Given the description of an element on the screen output the (x, y) to click on. 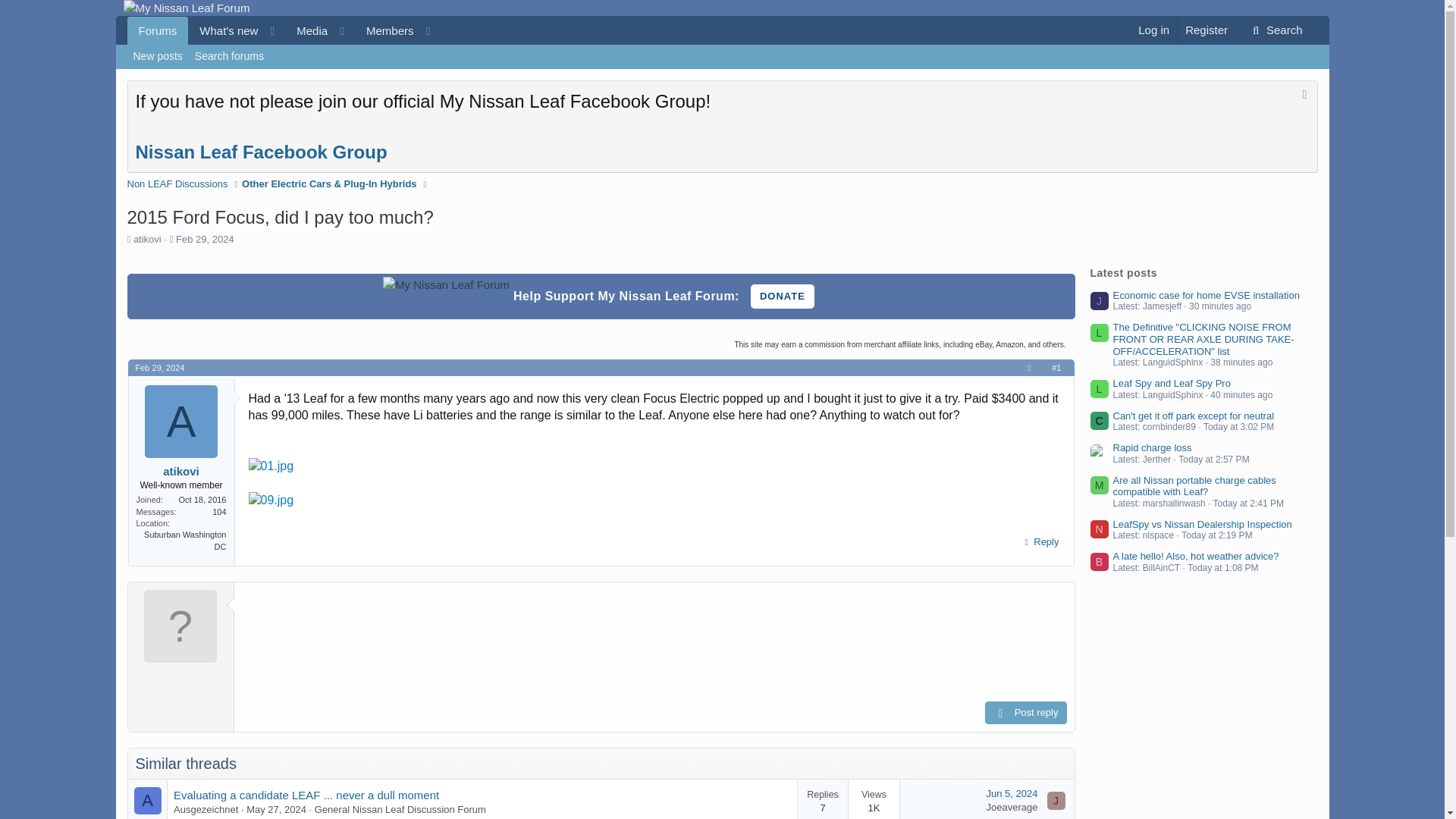
Dismiss notice (1302, 96)
PayPal - The safer, easier way to pay online! (782, 296)
May 27, 2024 at 7:16 PM (275, 808)
Log in (288, 30)
Donate (1153, 29)
Members (782, 296)
Jun 5, 2024 at 8:04 AM (384, 30)
Search forums (1012, 793)
Nissan Leaf Facebook Group (229, 56)
Search (288, 30)
Forums (261, 151)
First message reaction score: 0 (1275, 30)
